Given the description of an element on the screen output the (x, y) to click on. 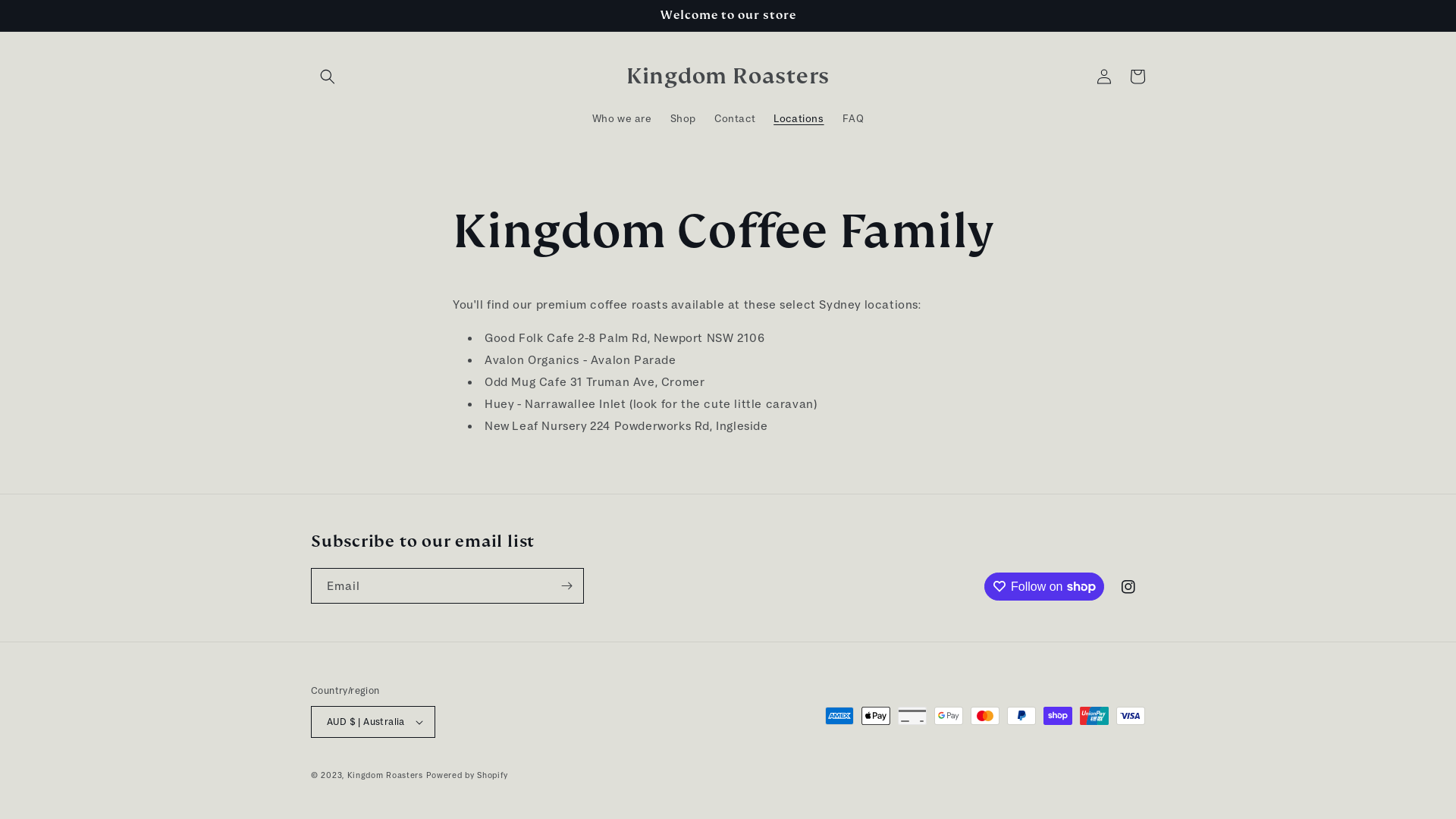
Instagram Element type: text (1128, 586)
Who we are Element type: text (622, 117)
Kingdom Roasters Element type: text (727, 76)
FAQ Element type: text (853, 117)
Shop Element type: text (683, 117)
Locations Element type: text (798, 117)
Powered by Shopify Element type: text (467, 774)
Kingdom Roasters Element type: text (385, 774)
Log in Element type: text (1103, 76)
Contact Element type: text (734, 117)
Cart Element type: text (1137, 76)
AUD $ | Australia Element type: text (372, 721)
